Given the description of an element on the screen output the (x, y) to click on. 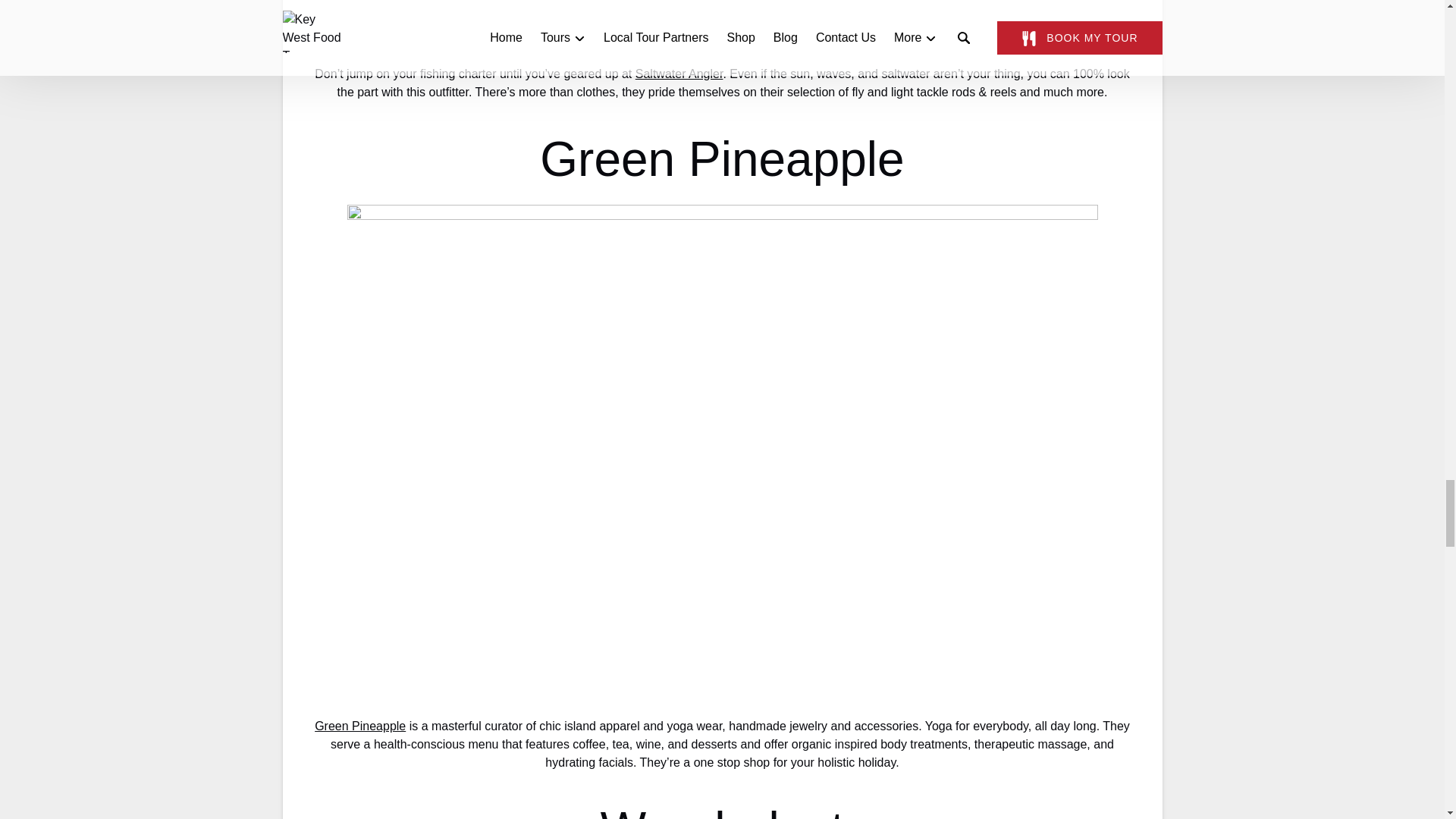
Saltwater Angler (678, 73)
Green Pineapple (360, 725)
